Given the description of an element on the screen output the (x, y) to click on. 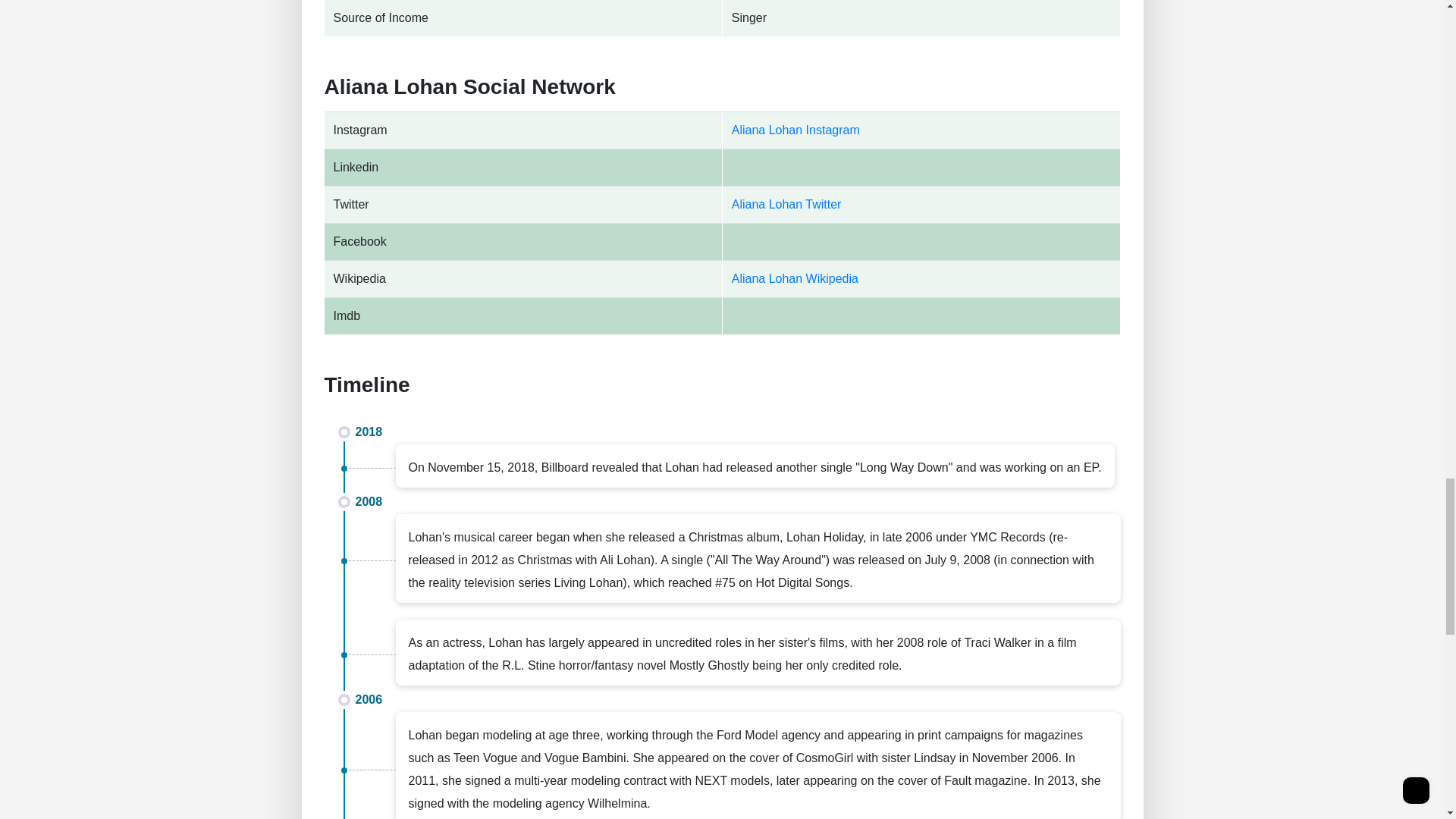
Aliana Lohan Wikipedia (795, 278)
Aliana Lohan Twitter (786, 204)
Aliana Lohan Instagram (796, 129)
